Given the description of an element on the screen output the (x, y) to click on. 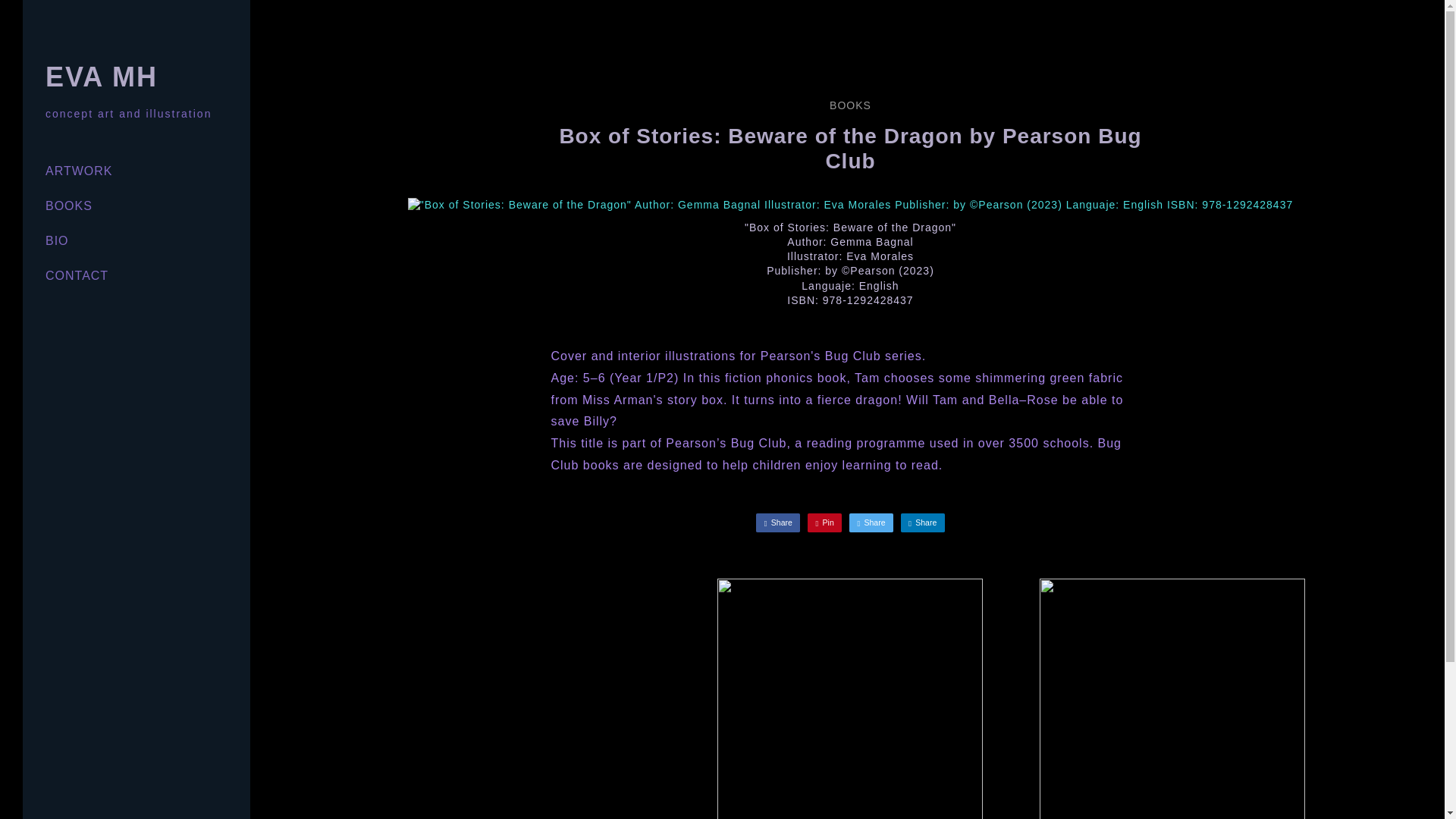
BOOKS (849, 105)
EVA MH (101, 76)
Share (922, 522)
BIO (56, 240)
BOOKS (69, 205)
CONTACT (76, 275)
Share (777, 522)
ARTWORK (78, 170)
